Given the description of an element on the screen output the (x, y) to click on. 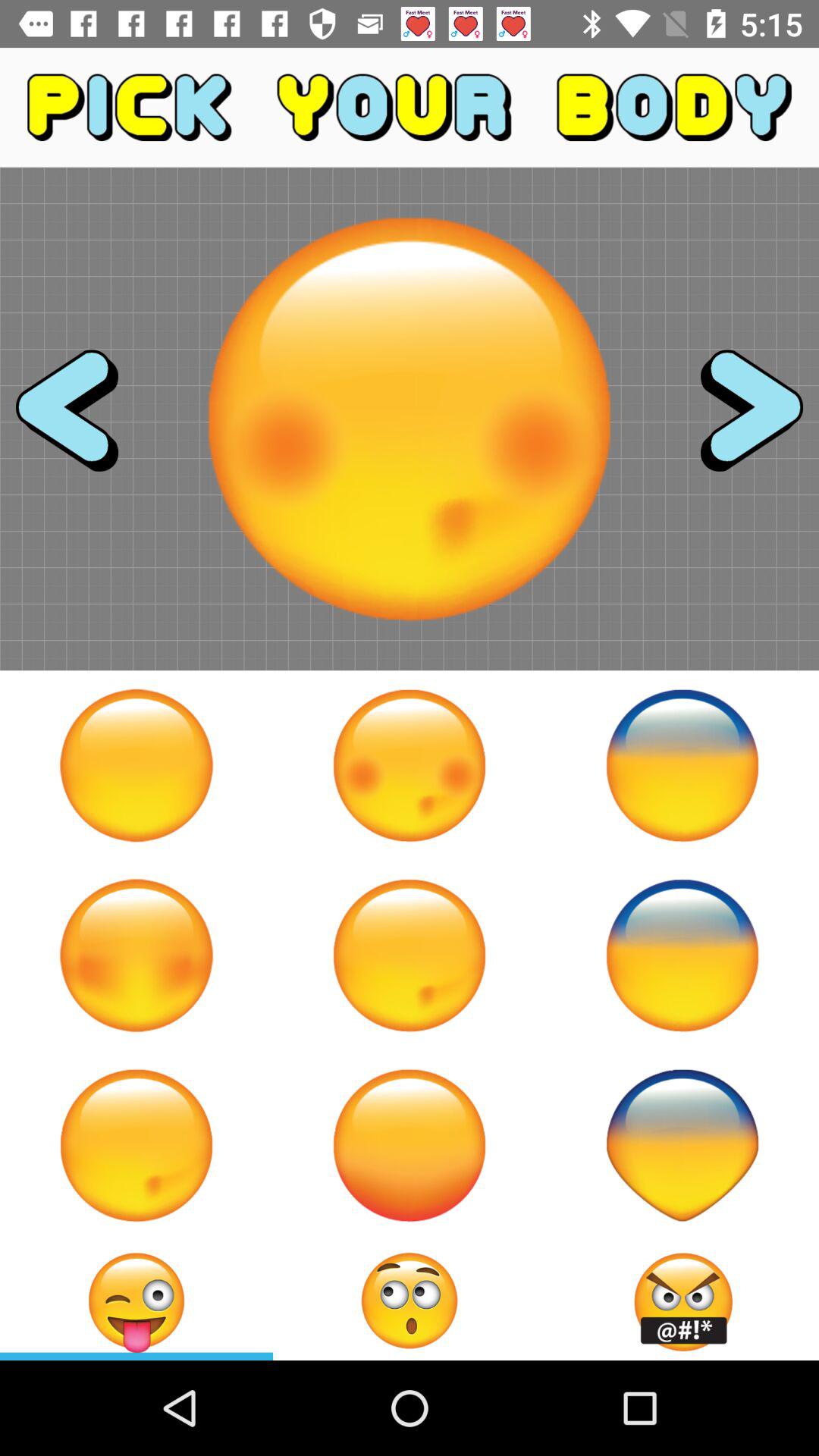
go to the next button (737, 418)
